Given the description of an element on the screen output the (x, y) to click on. 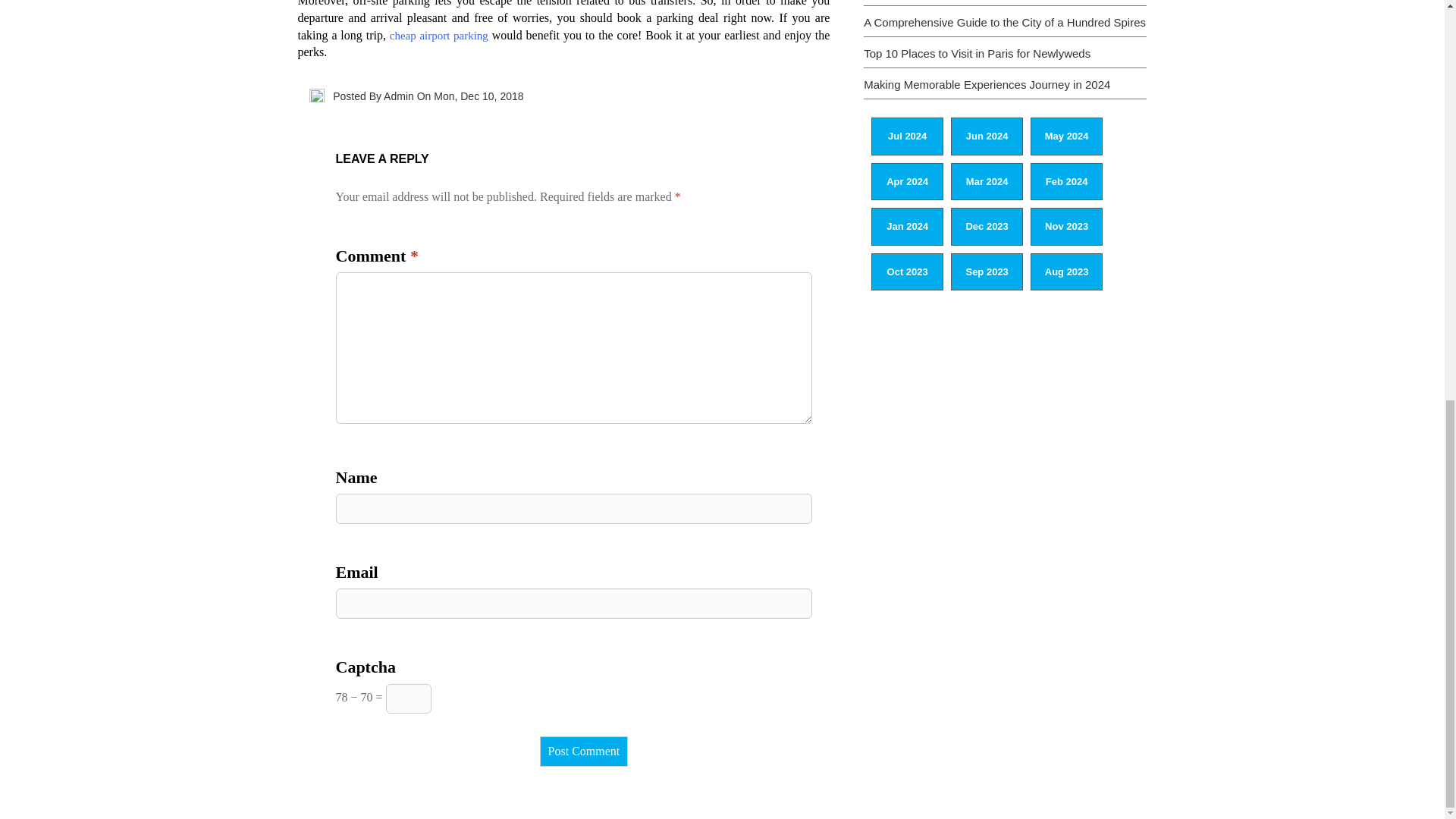
Post Comment (584, 751)
Post Comment (584, 751)
A Comprehensive Guide to the City of a Hundred Spires (1004, 21)
Top 10 Places to Visit in Paris for Newlyweds (976, 52)
Making Memorable Experiences Journey in 2024 (986, 83)
cheap airport parking (438, 34)
